Given the description of an element on the screen output the (x, y) to click on. 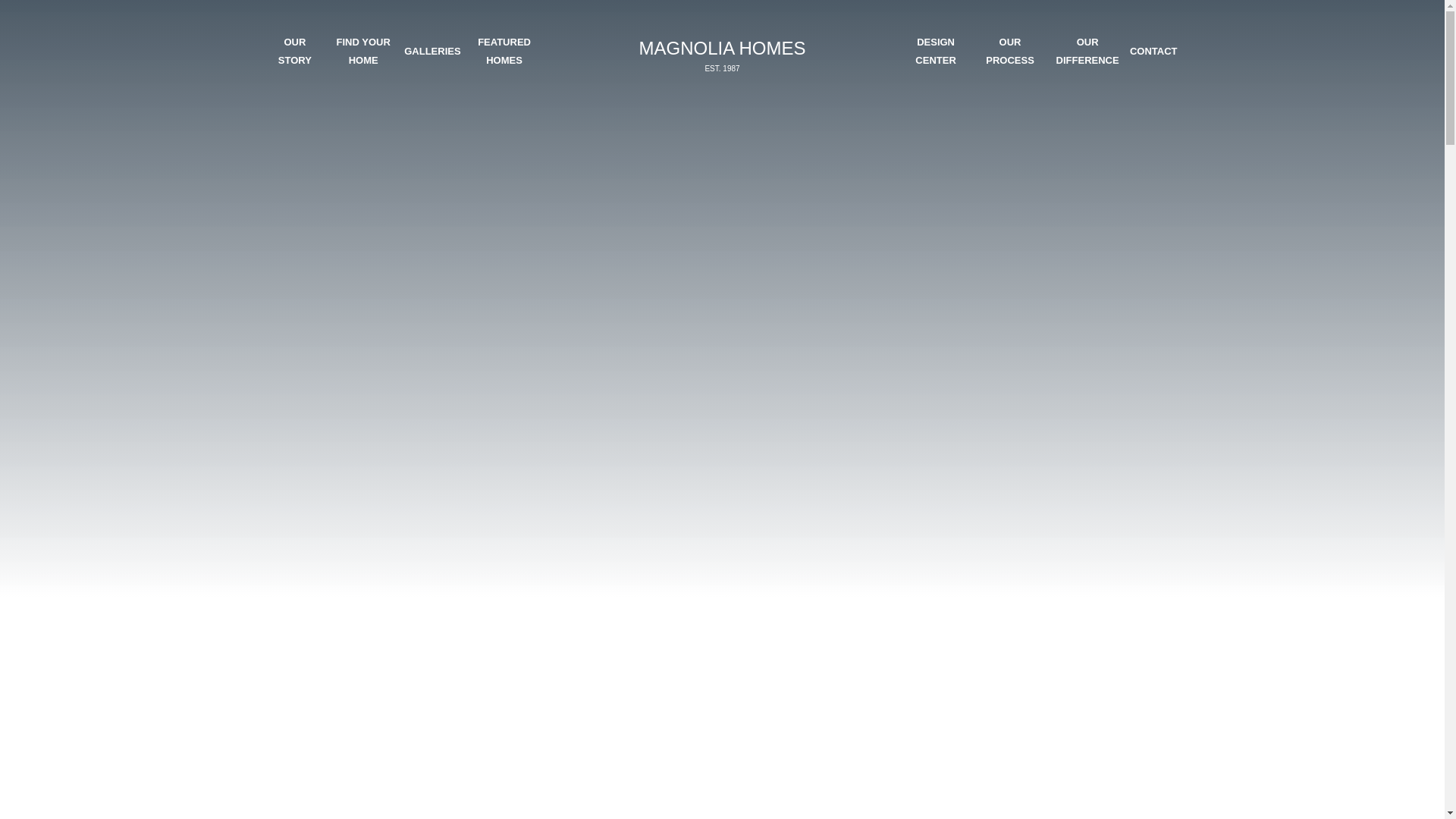
DESIGN CENTER (935, 51)
GALLERIES (432, 50)
CONTACT (721, 54)
OUR DIFFERENCE (1153, 50)
OUR STORY (1088, 51)
FEATURED HOMES (294, 51)
OUR PROCESS (504, 51)
FIND YOUR HOME (1009, 51)
